Given the description of an element on the screen output the (x, y) to click on. 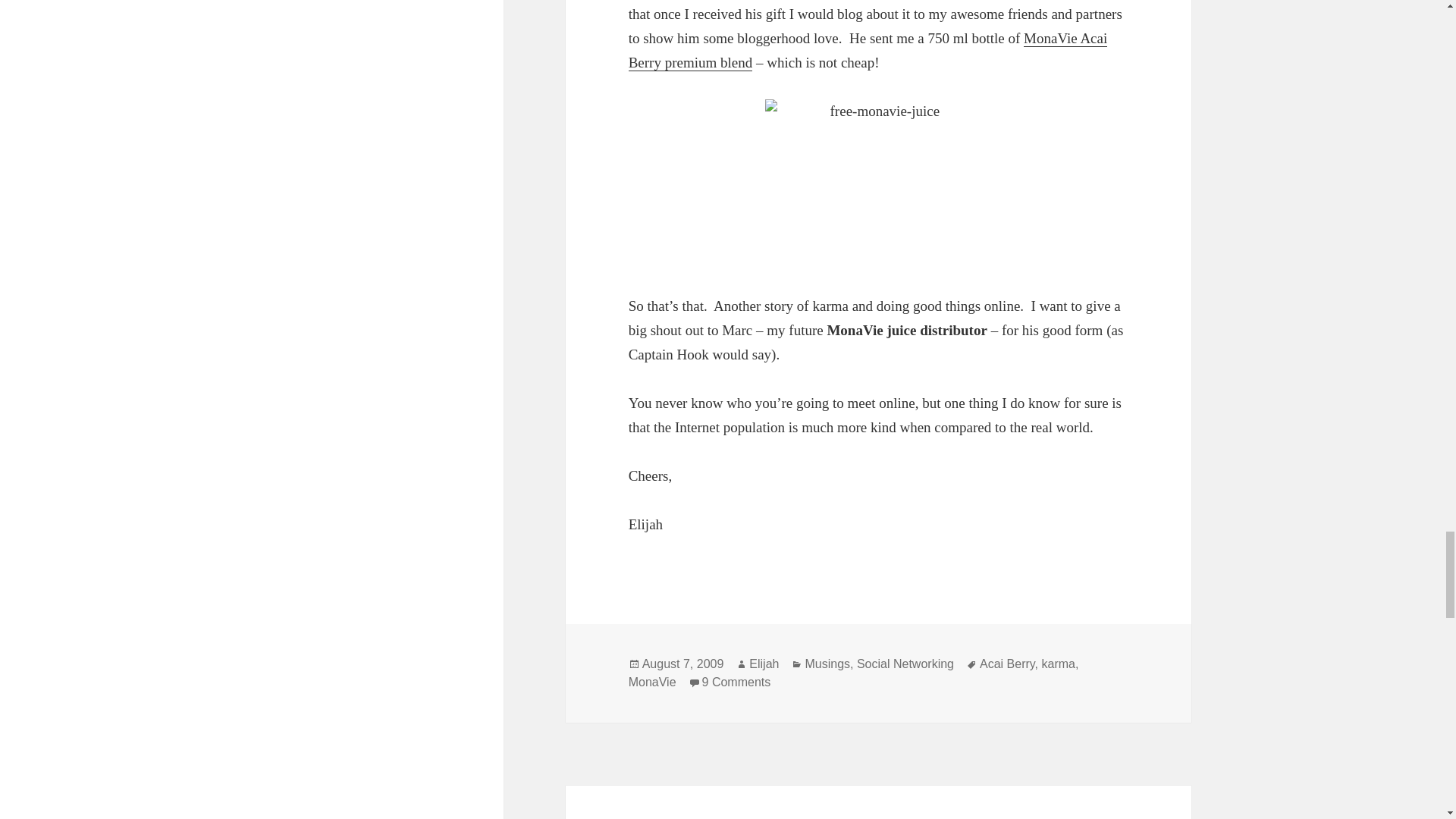
free-monavie-juice (878, 184)
